Given the description of an element on the screen output the (x, y) to click on. 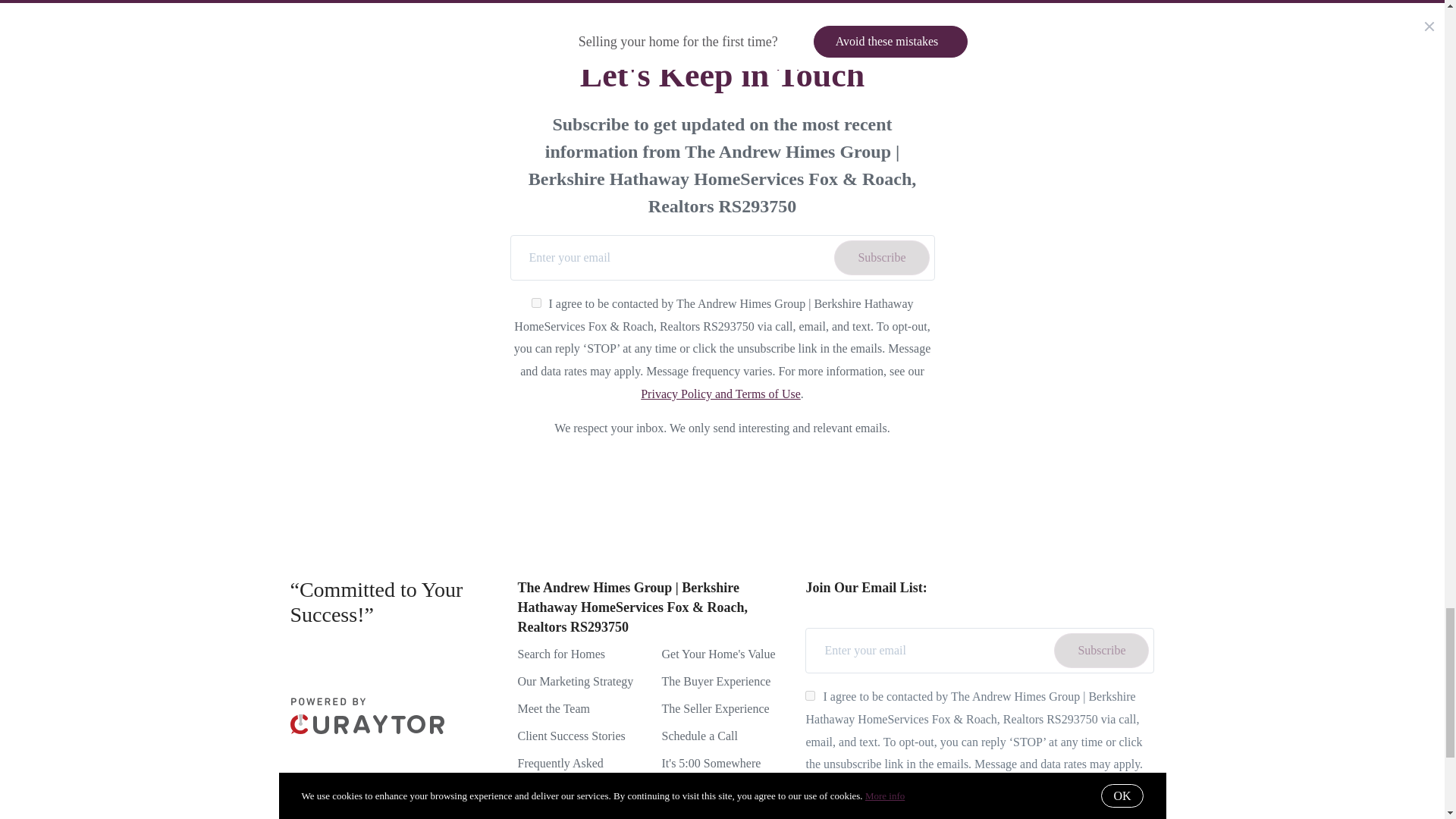
on (536, 302)
on (810, 696)
curaytor-horizontal (366, 715)
